Given the description of an element on the screen output the (x, y) to click on. 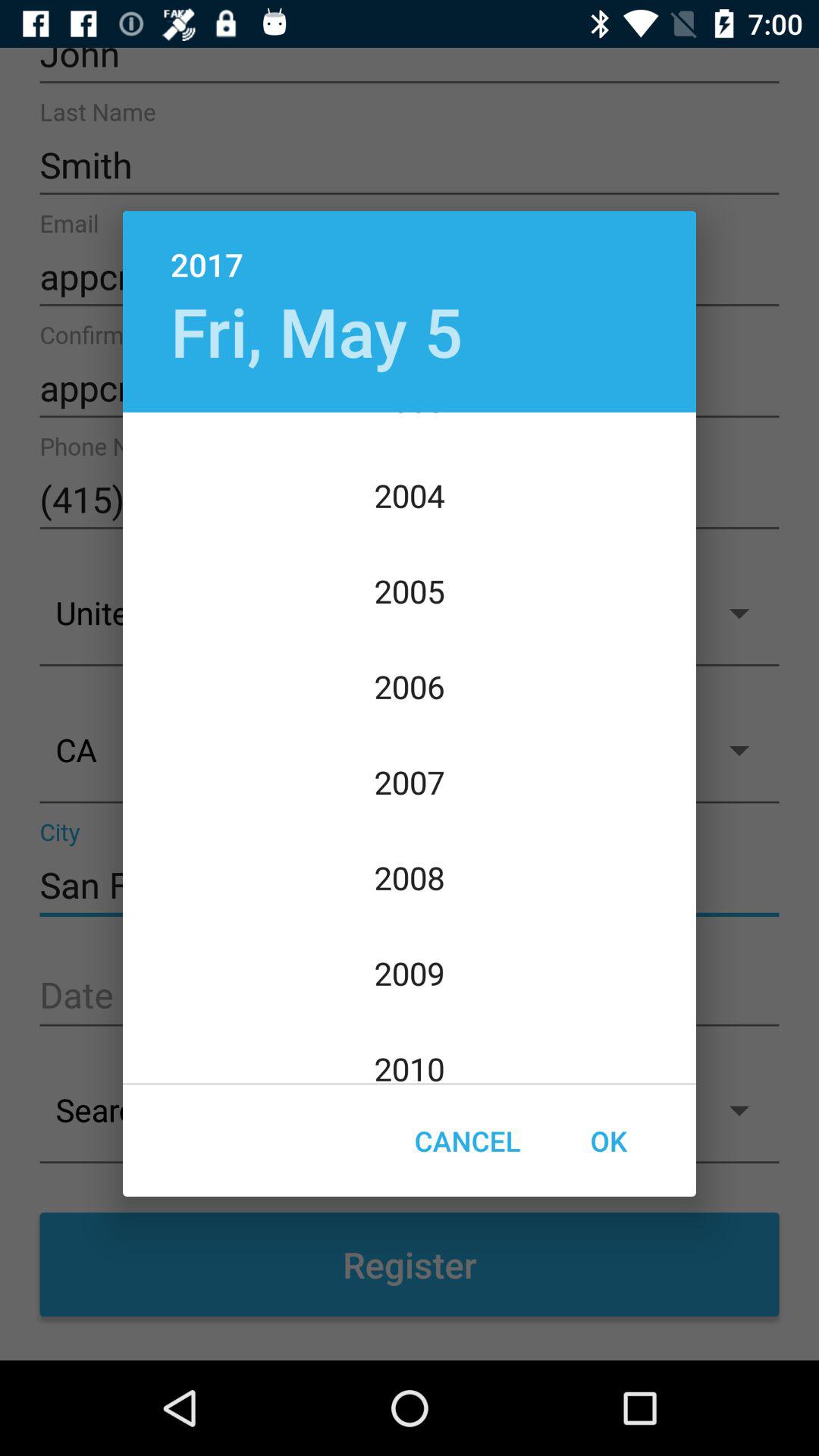
tap the fri, may 5 item (316, 331)
